Given the description of an element on the screen output the (x, y) to click on. 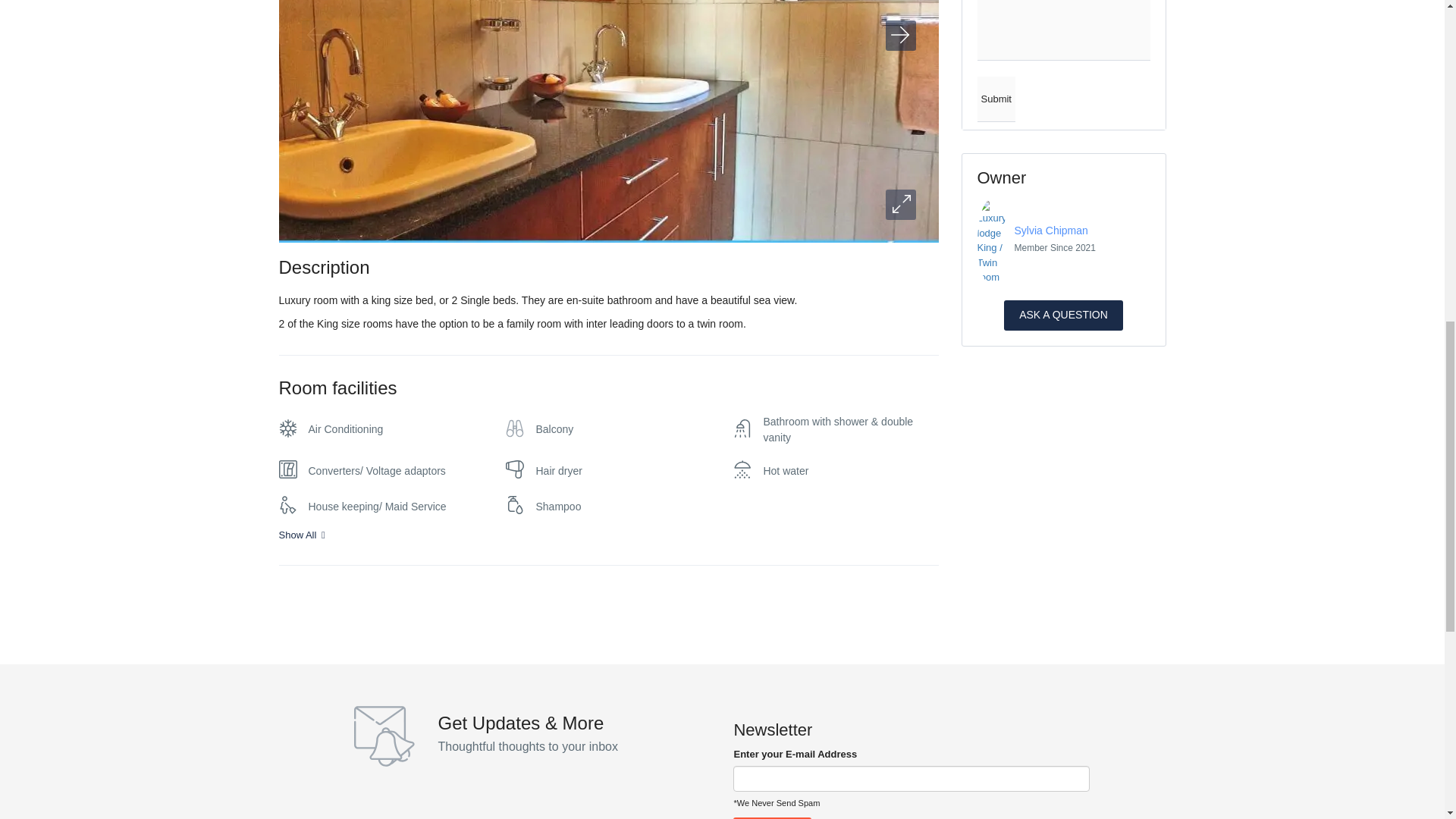
Sylvia Chipman (1050, 230)
Subscribe (771, 818)
Show All (609, 534)
ASK A QUESTION (1063, 315)
Subscribe (771, 818)
